Given the description of an element on the screen output the (x, y) to click on. 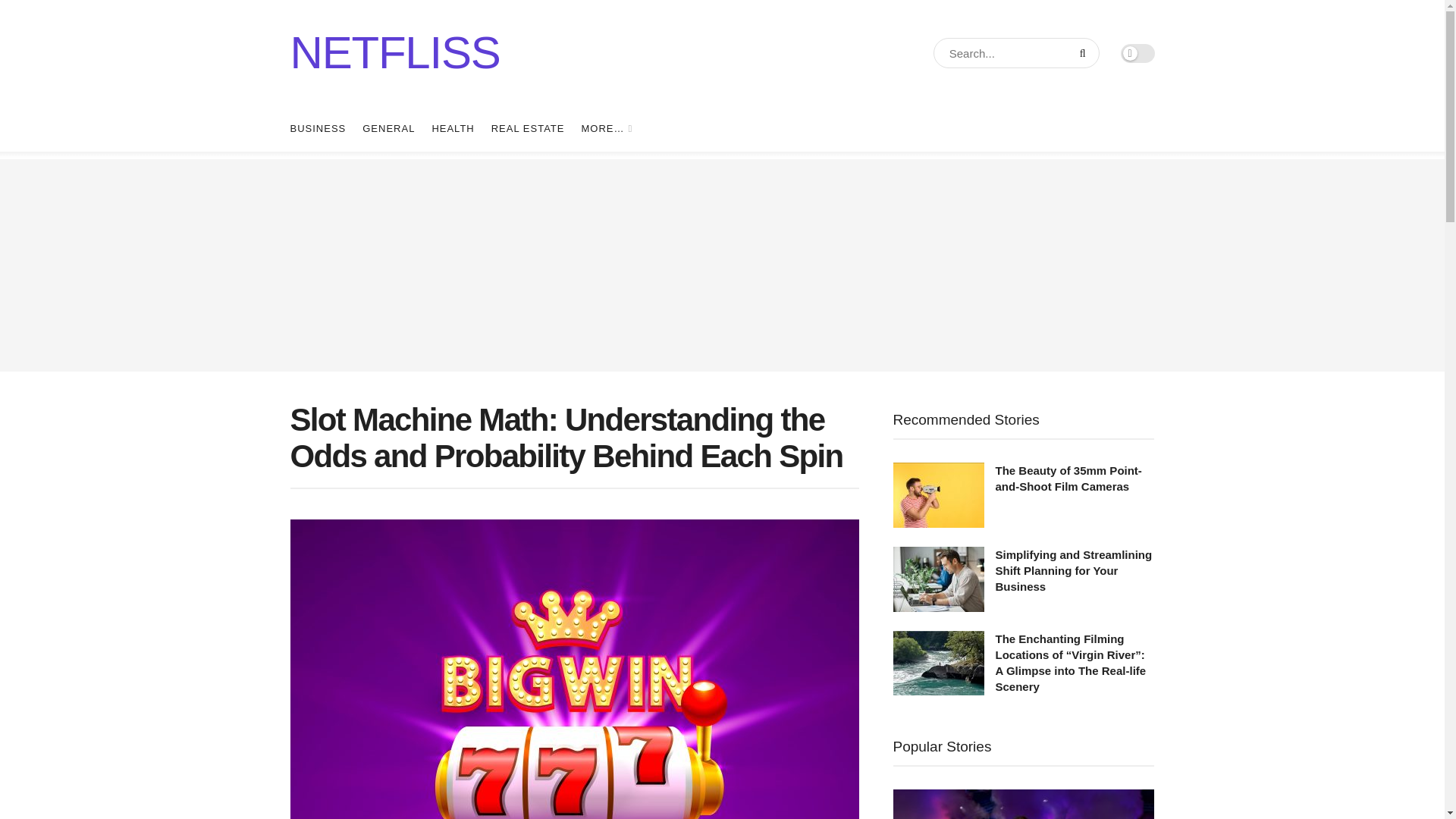
GENERAL (388, 128)
BUSINESS (317, 128)
NETFLISS (394, 53)
HEALTH (452, 128)
REAL ESTATE (528, 128)
